Given the description of an element on the screen output the (x, y) to click on. 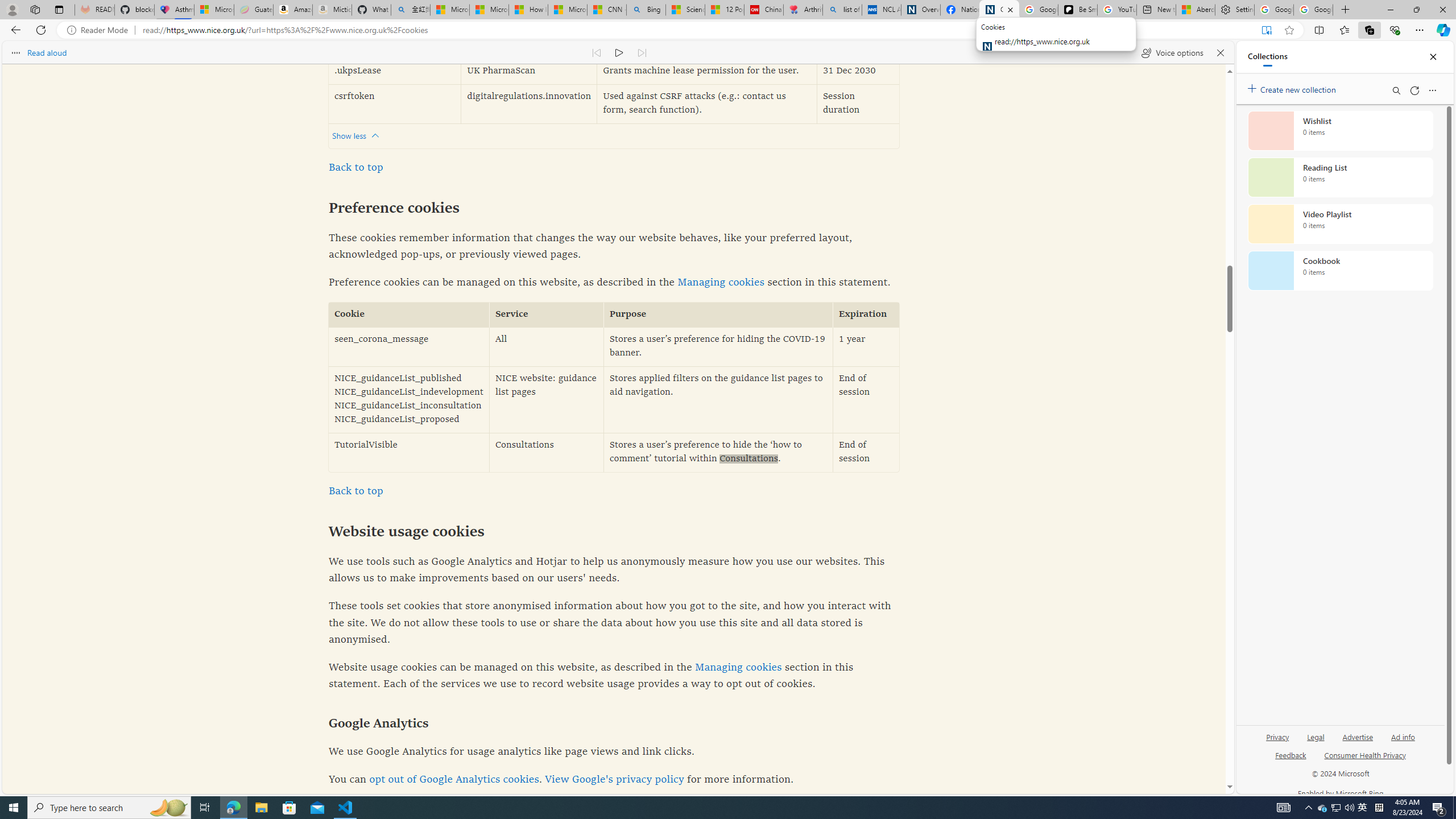
Ad info (1402, 736)
seen_corona_message (408, 346)
Cookies (999, 9)
Video Playlist collection, 0 items (1339, 223)
Create new collection (1293, 87)
Enter Immersive Reader (F9) (1266, 29)
End of session (865, 452)
Legal (1315, 736)
Ad info (1402, 741)
Read previous paragraph (596, 52)
